Given the description of an element on the screen output the (x, y) to click on. 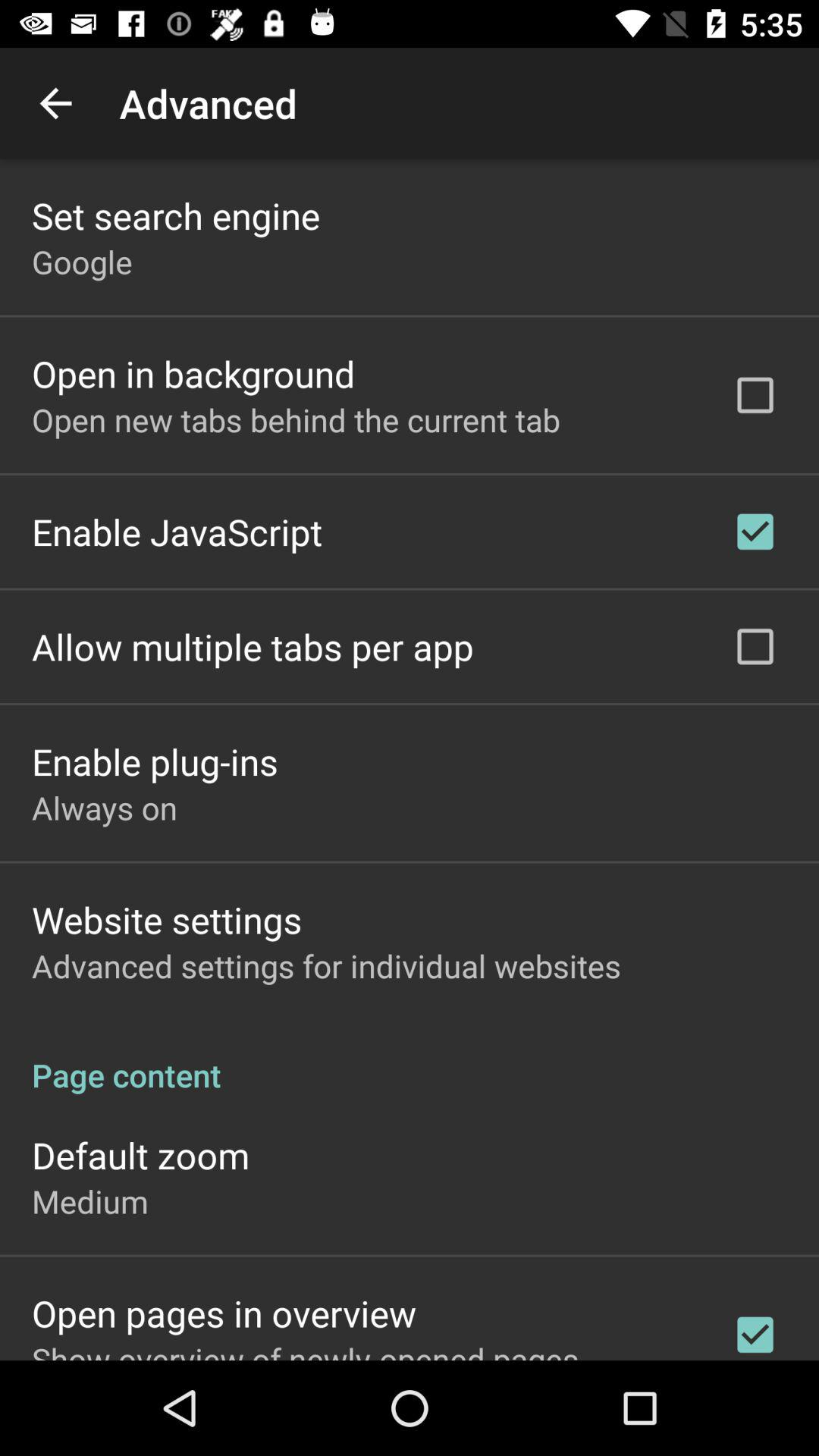
click the app above the website settings item (104, 807)
